Given the description of an element on the screen output the (x, y) to click on. 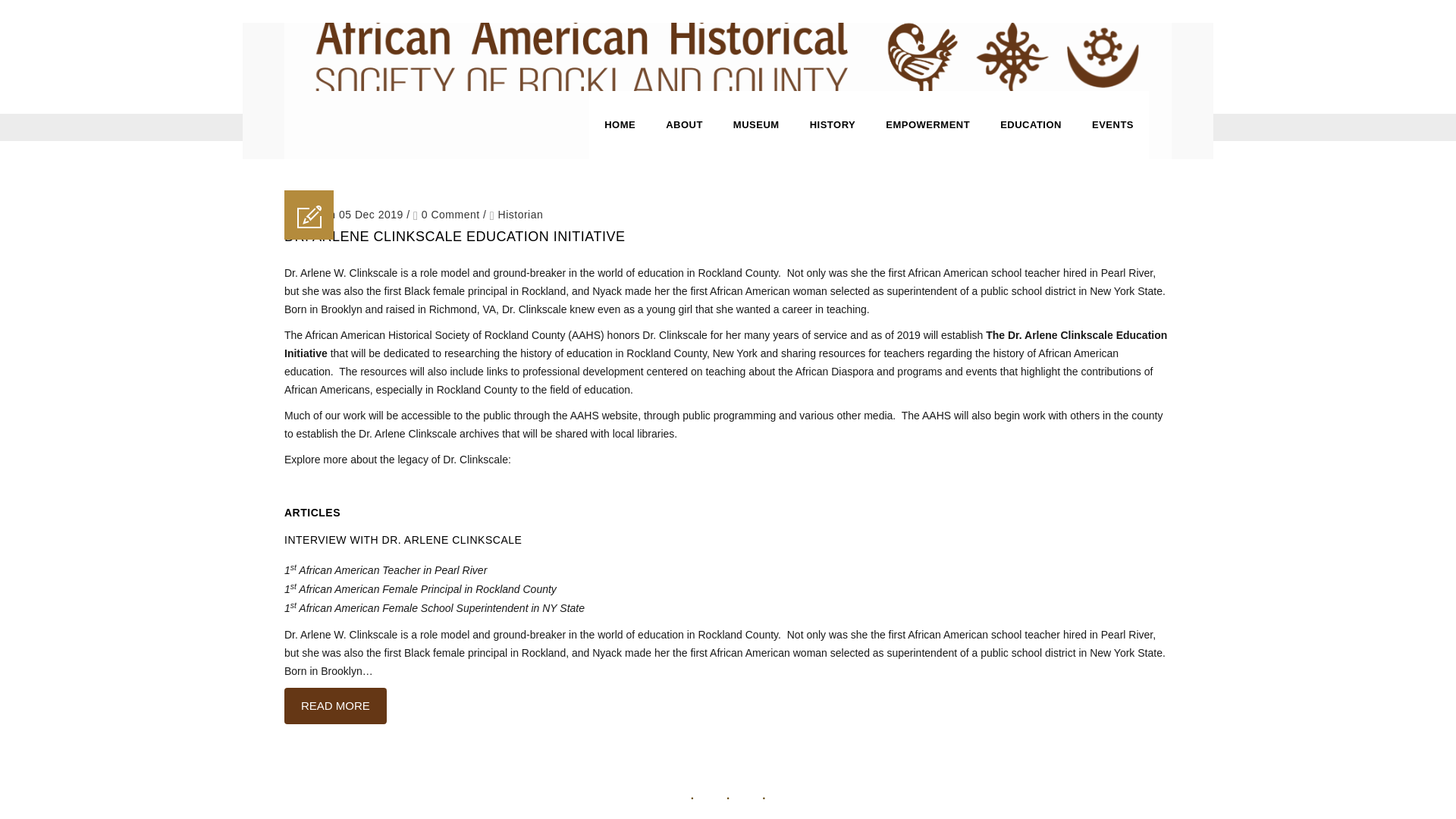
HOME (619, 124)
Historian (520, 214)
MUSEUM (755, 124)
EMPOWERMENT (927, 124)
DR. ARLENE CLINKSCALE EDUCATION INITIATIVE (453, 236)
Permalink to Dr. Arlene Clinkscale Education Initiative (453, 236)
EVENTS (1112, 124)
EDUCATION (1031, 124)
View all posts by Historian (520, 214)
AAHS of Rockland Empowerment (727, 56)
HISTORY (832, 124)
READ MORE (335, 705)
ABOUT (683, 124)
INTERVIEW WITH DR. ARLENE CLINKSCALE (402, 539)
0 Comment (446, 214)
